Given the description of an element on the screen output the (x, y) to click on. 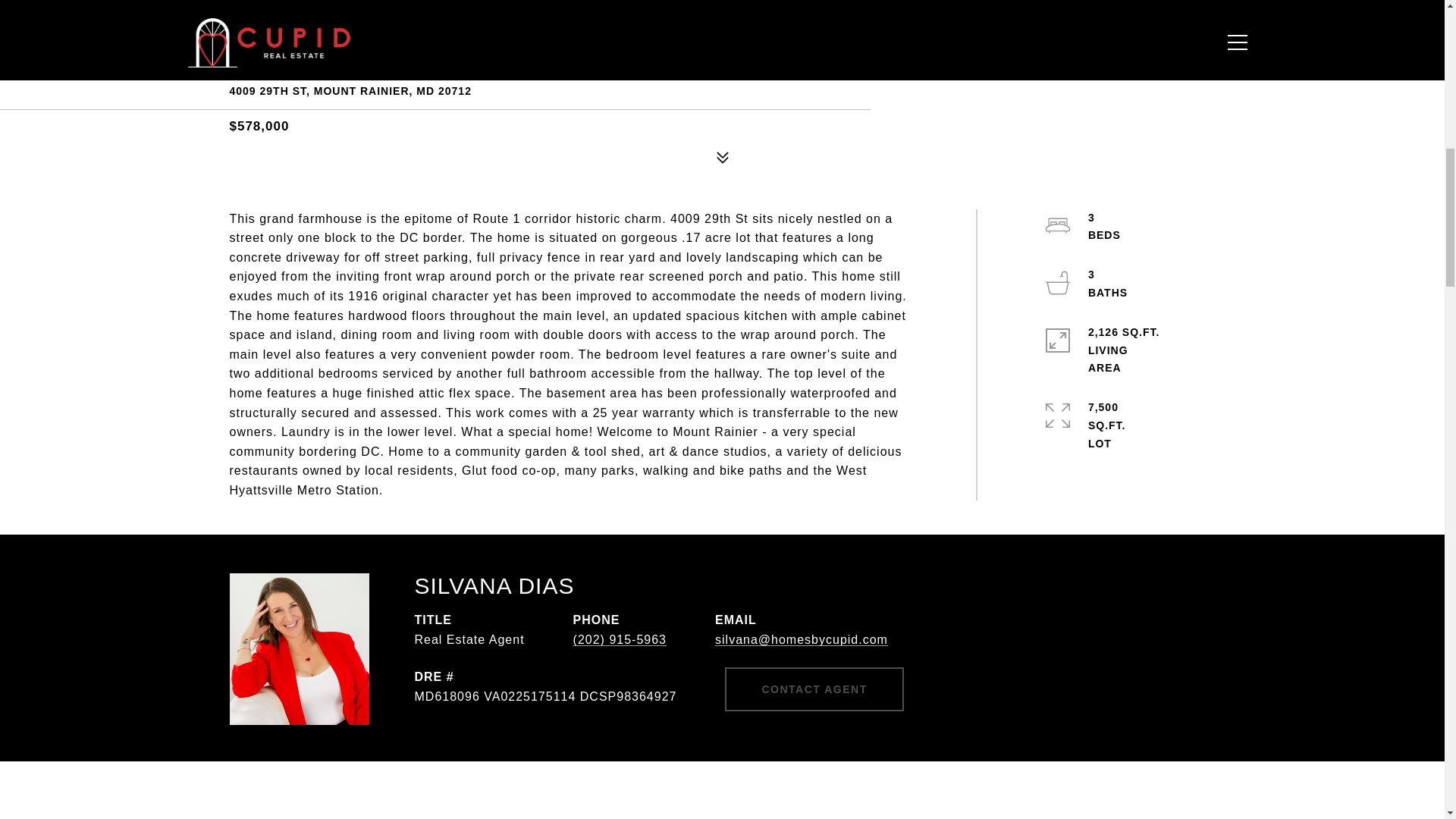
CONTACT AGENT (813, 689)
